Given the description of an element on the screen output the (x, y) to click on. 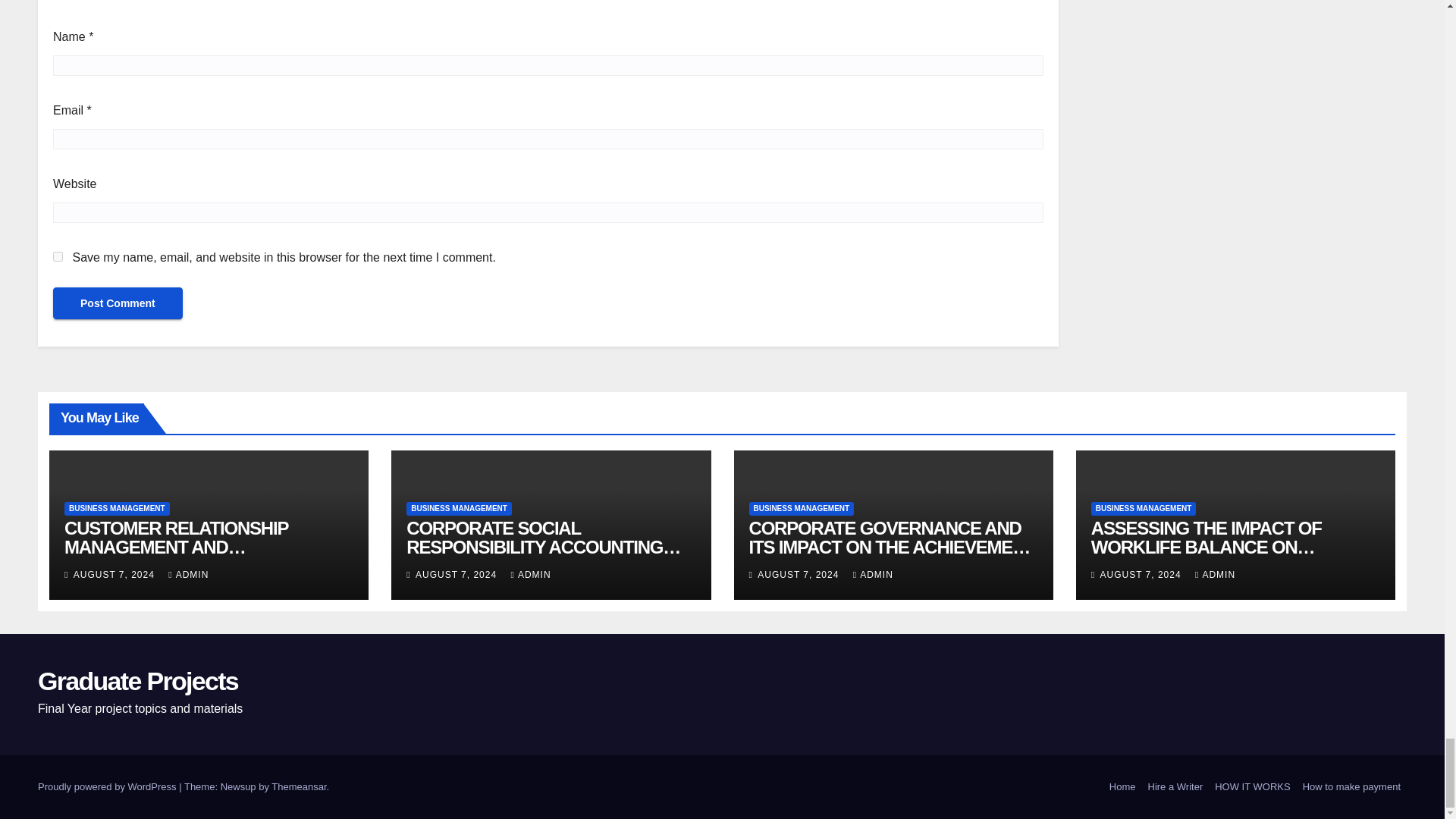
Post Comment (117, 303)
yes (57, 256)
Home (1122, 786)
